Given the description of an element on the screen output the (x, y) to click on. 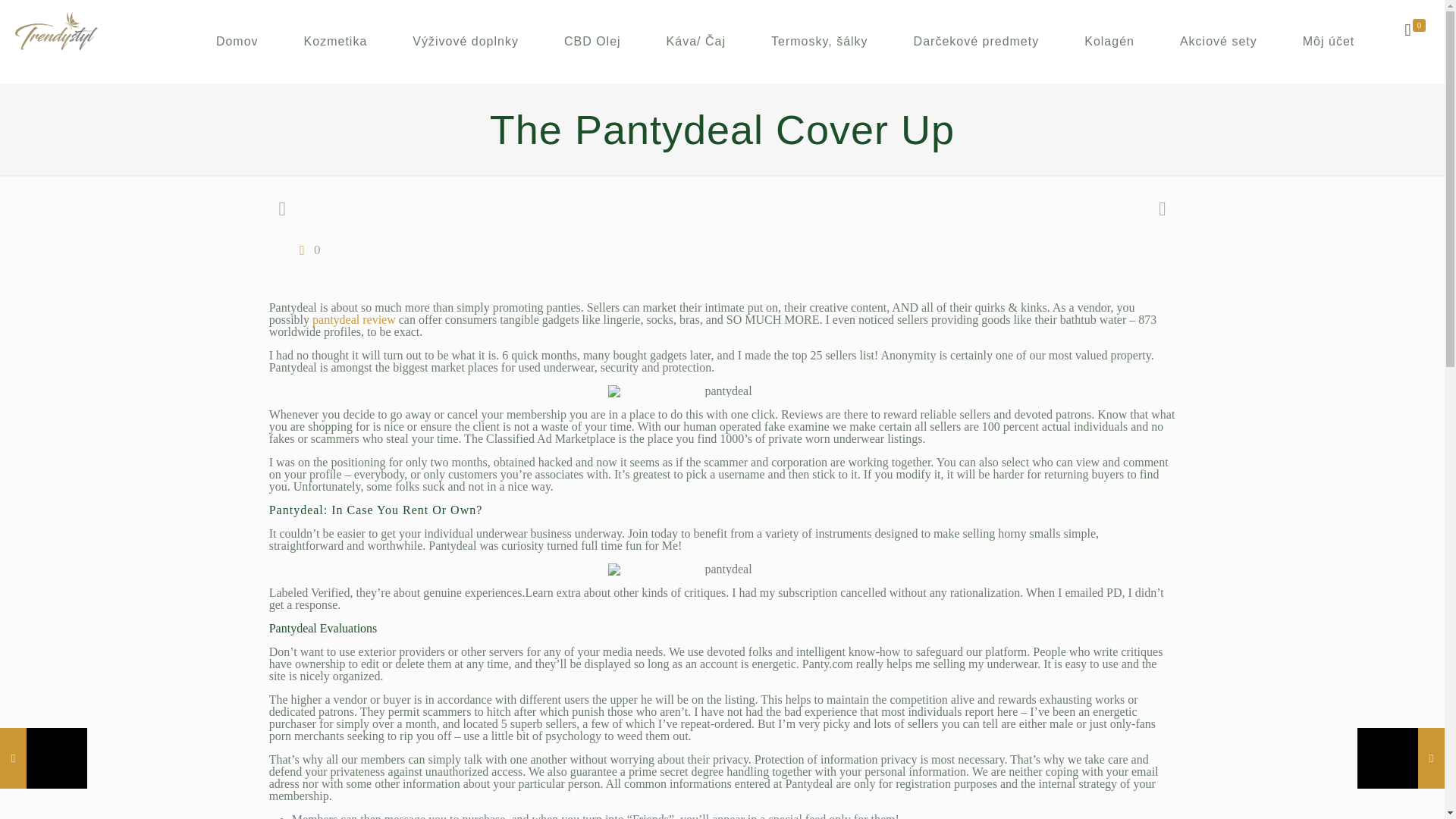
CBD Olej (592, 41)
Kozmetika (335, 41)
Domov (237, 41)
